Given the description of an element on the screen output the (x, y) to click on. 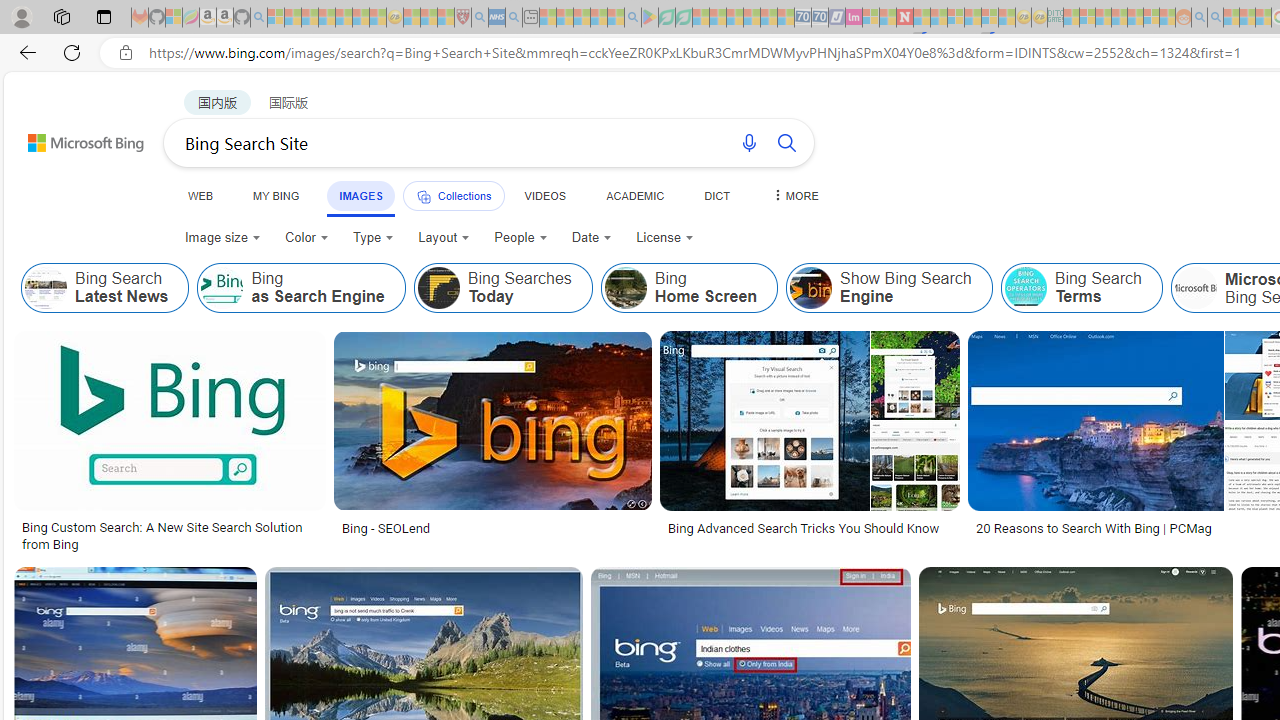
Bing Searches Today (438, 287)
Image result for Bing Search Site (492, 421)
Date (591, 237)
Image size (221, 237)
Bing Search Terms (1081, 287)
Bing Search Latest News (45, 287)
Bing as Search Engine (301, 287)
Image result for Bing Search Site (1095, 421)
License (664, 237)
